Given the description of an element on the screen output the (x, y) to click on. 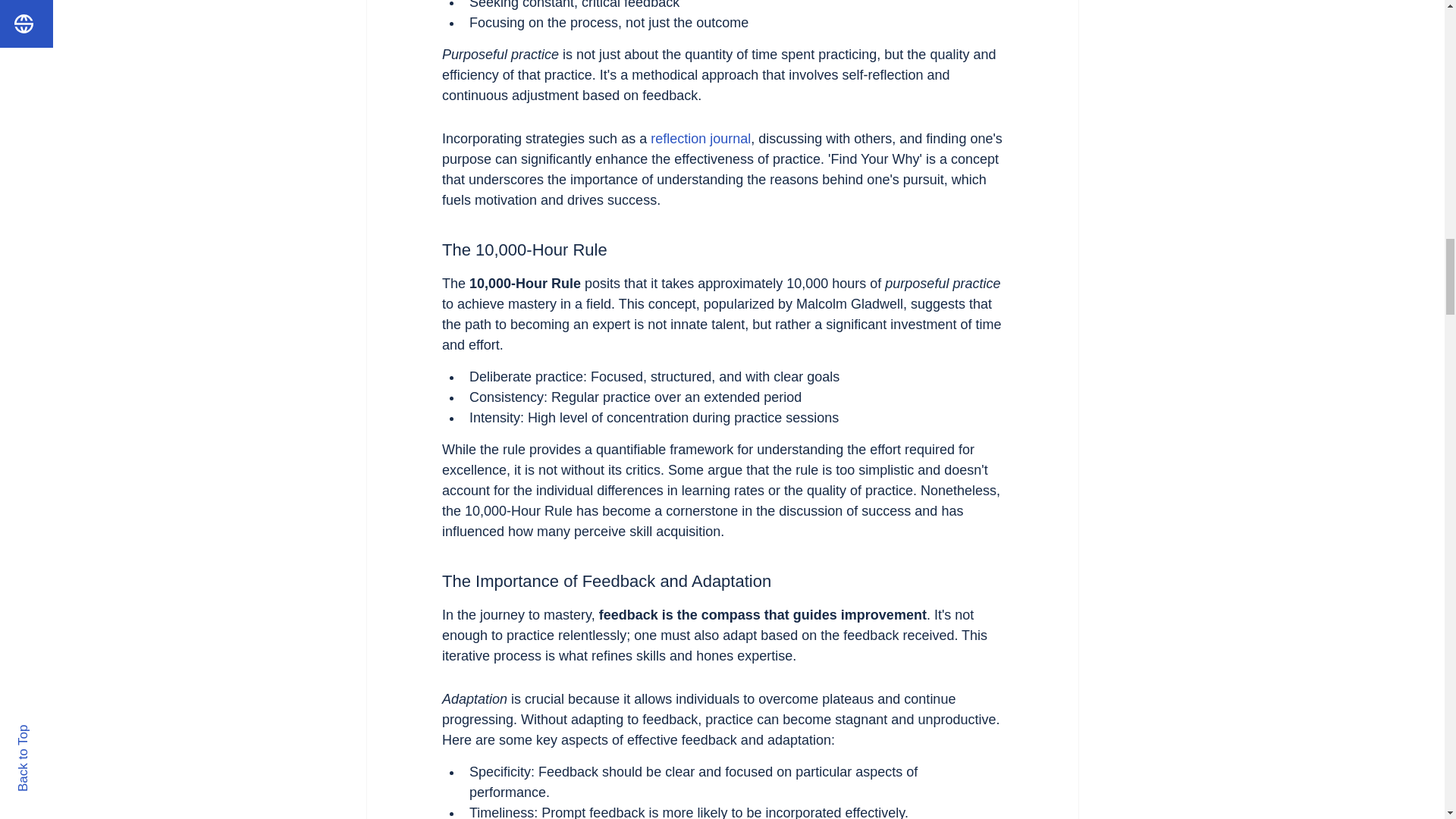
reflection journal (700, 138)
